Given the description of an element on the screen output the (x, y) to click on. 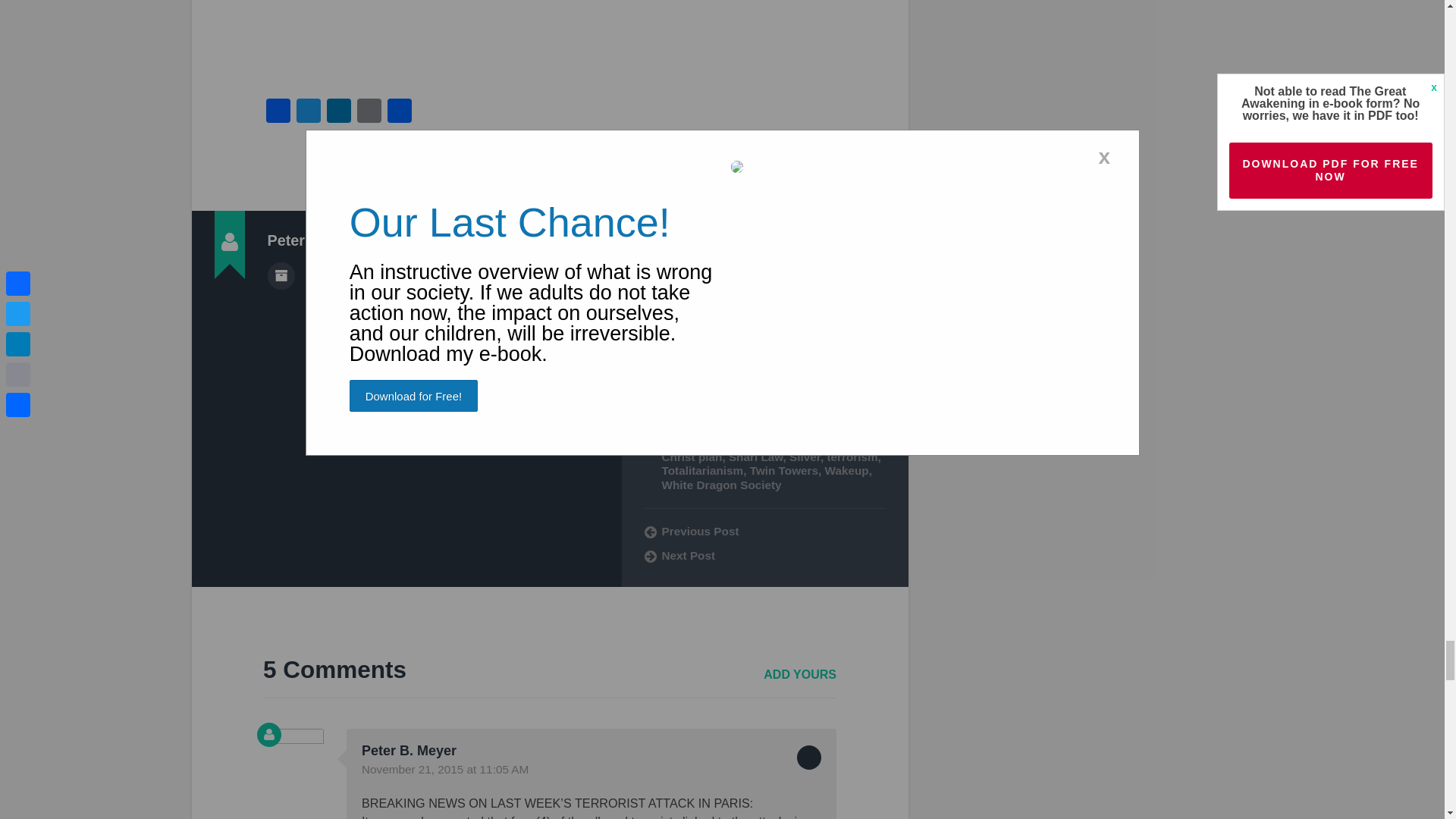
LinkedIn (338, 112)
Facebook (278, 112)
Email (368, 112)
Author archive (280, 275)
Next post: Bitcoin explained (765, 555)
Previous post: Glitters Deceive (765, 531)
Twitter (308, 112)
